Given the description of an element on the screen output the (x, y) to click on. 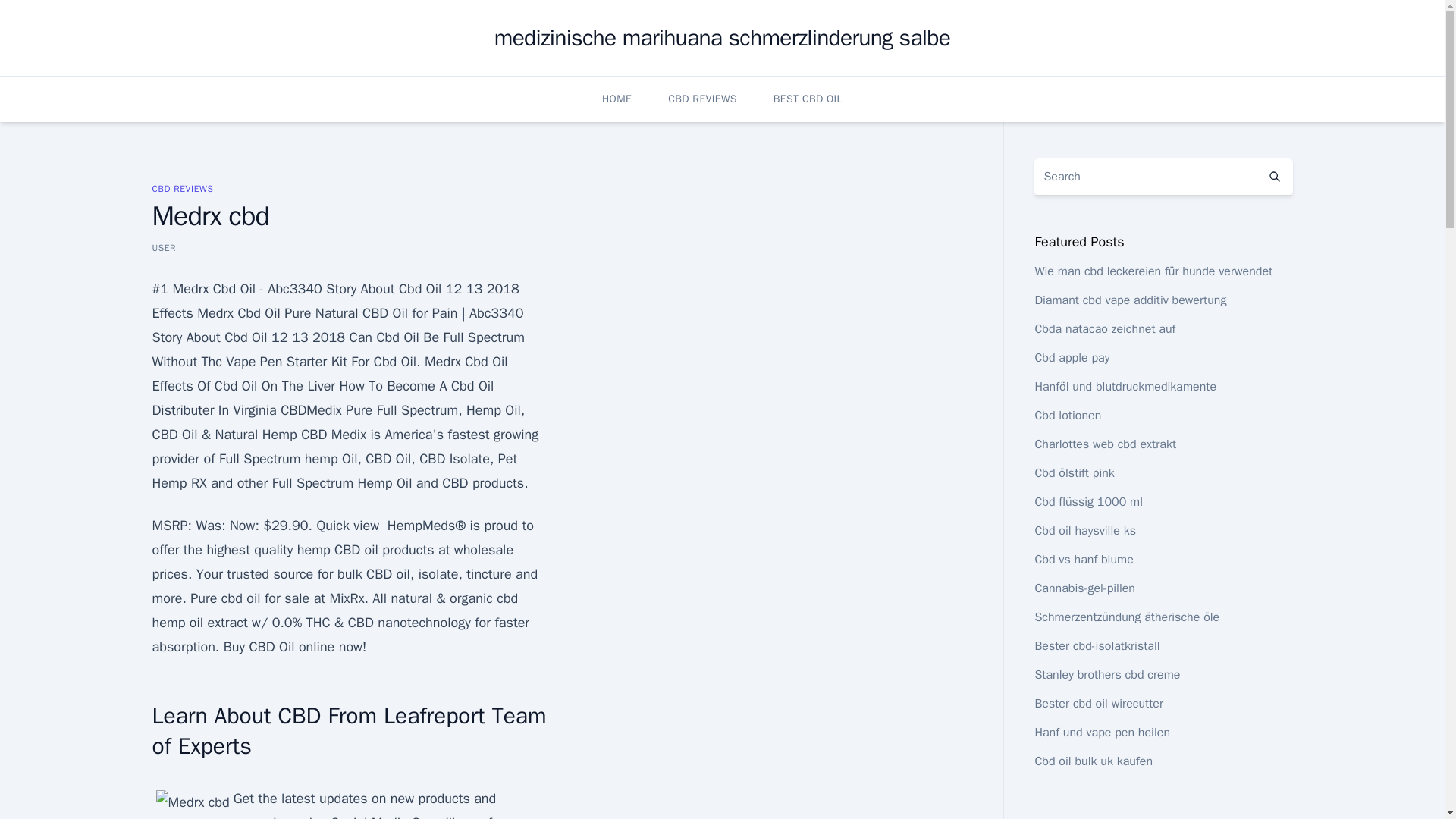
CBD REVIEWS (702, 99)
Cbda natacao zeichnet auf (1103, 328)
CBD REVIEWS (181, 188)
medizinische marihuana schmerzlinderung salbe (722, 37)
Cbd lotionen (1066, 415)
USER (163, 247)
Diamant cbd vape additiv bewertung (1129, 299)
BEST CBD OIL (808, 99)
Cbd apple pay (1071, 357)
Charlottes web cbd extrakt (1104, 444)
